Given the description of an element on the screen output the (x, y) to click on. 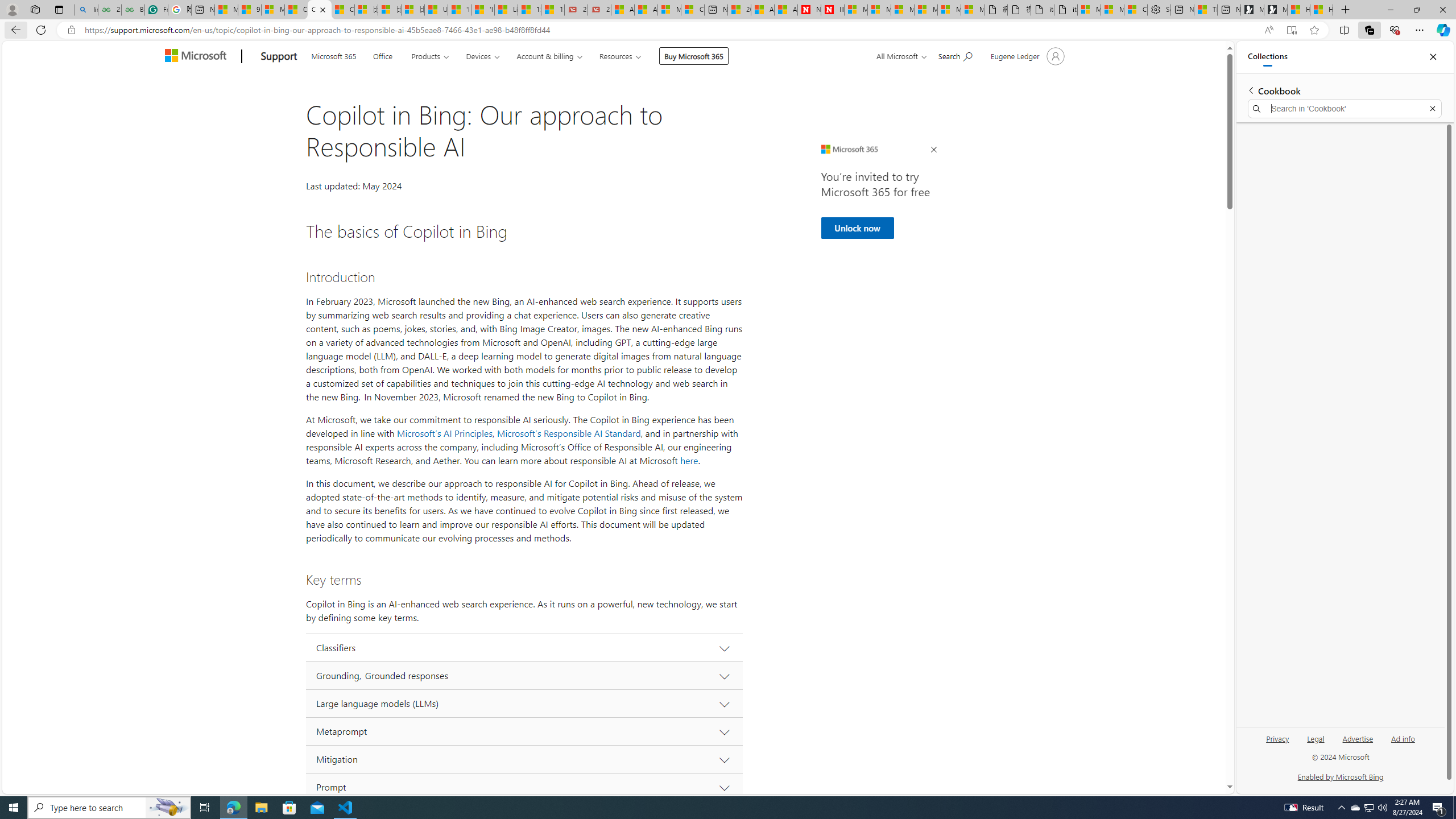
20 Ways to Boost Your Protein Intake at Every Meal (738, 9)
Three Ways To Stop Sweating So Much (1205, 9)
